Given the description of an element on the screen output the (x, y) to click on. 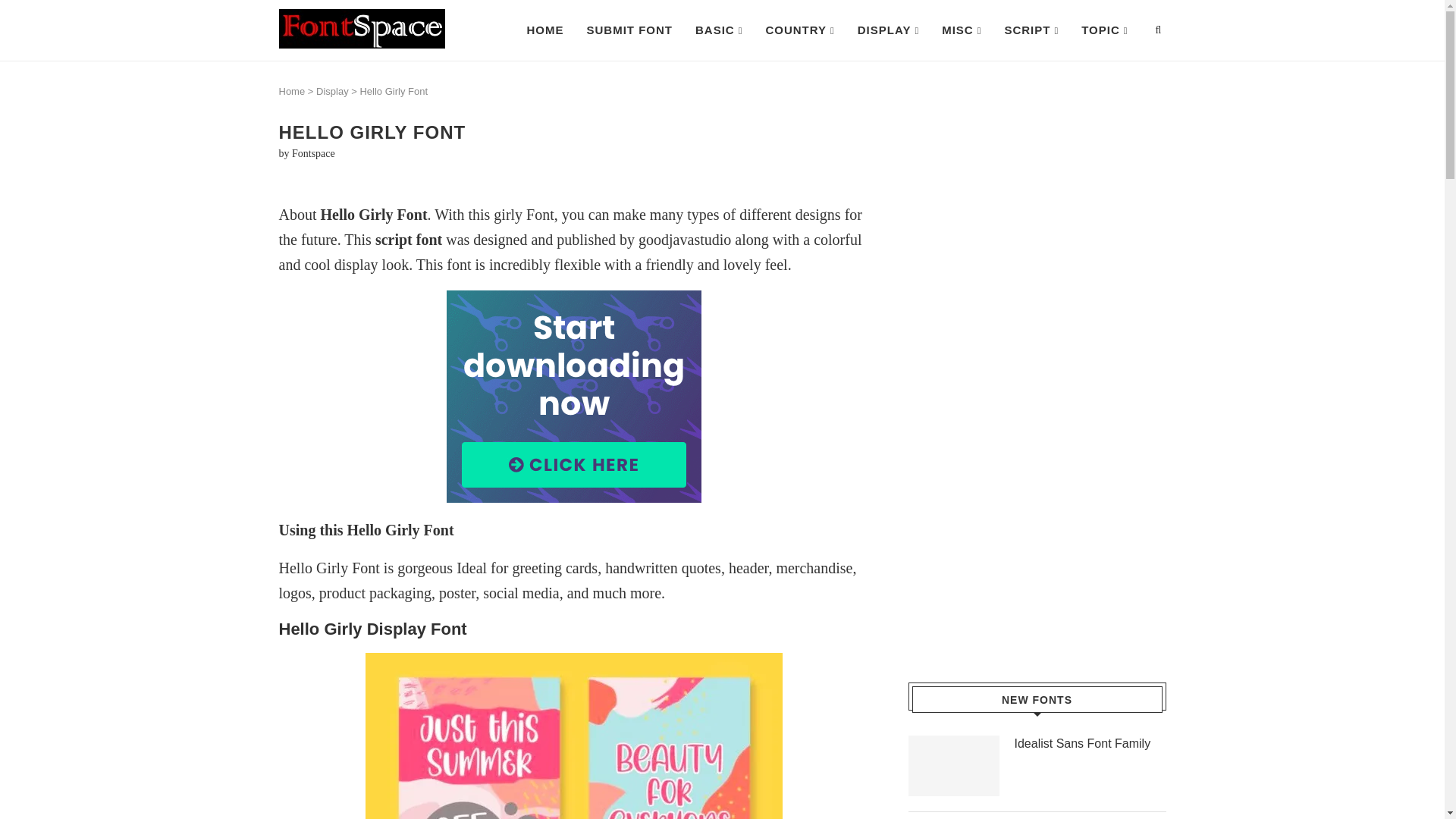
Get access to thousands of craft files (574, 396)
